Given the description of an element on the screen output the (x, y) to click on. 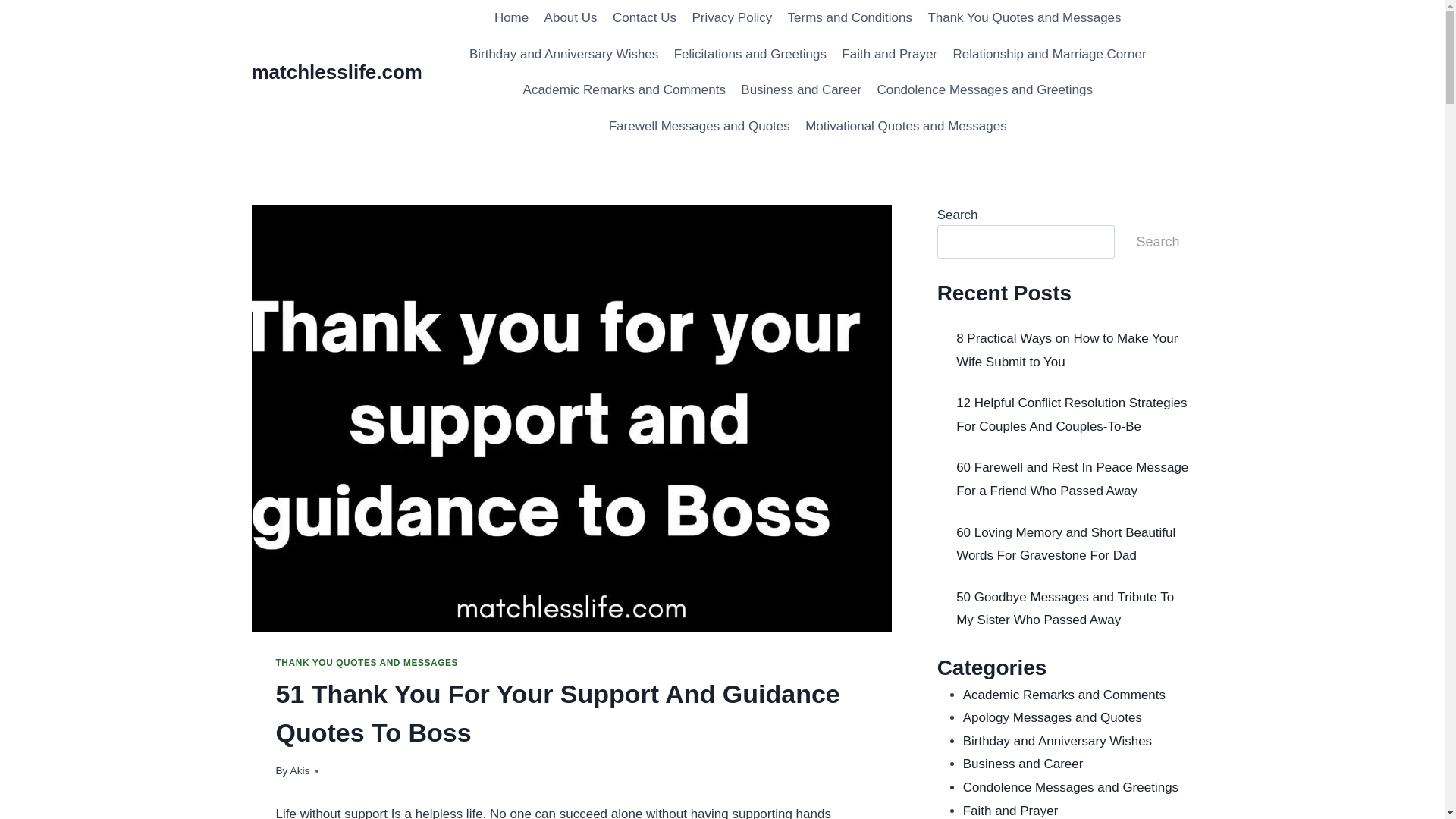
Farewell Messages and Quotes (699, 126)
Motivational Quotes and Messages (905, 126)
About Us (569, 18)
Academic Remarks and Comments (624, 90)
matchlesslife.com (336, 72)
Felicitations and Greetings (750, 54)
Privacy Policy (731, 18)
Akis (299, 770)
Faith and Prayer (889, 54)
Condolence Messages and Greetings (984, 90)
